Given the description of an element on the screen output the (x, y) to click on. 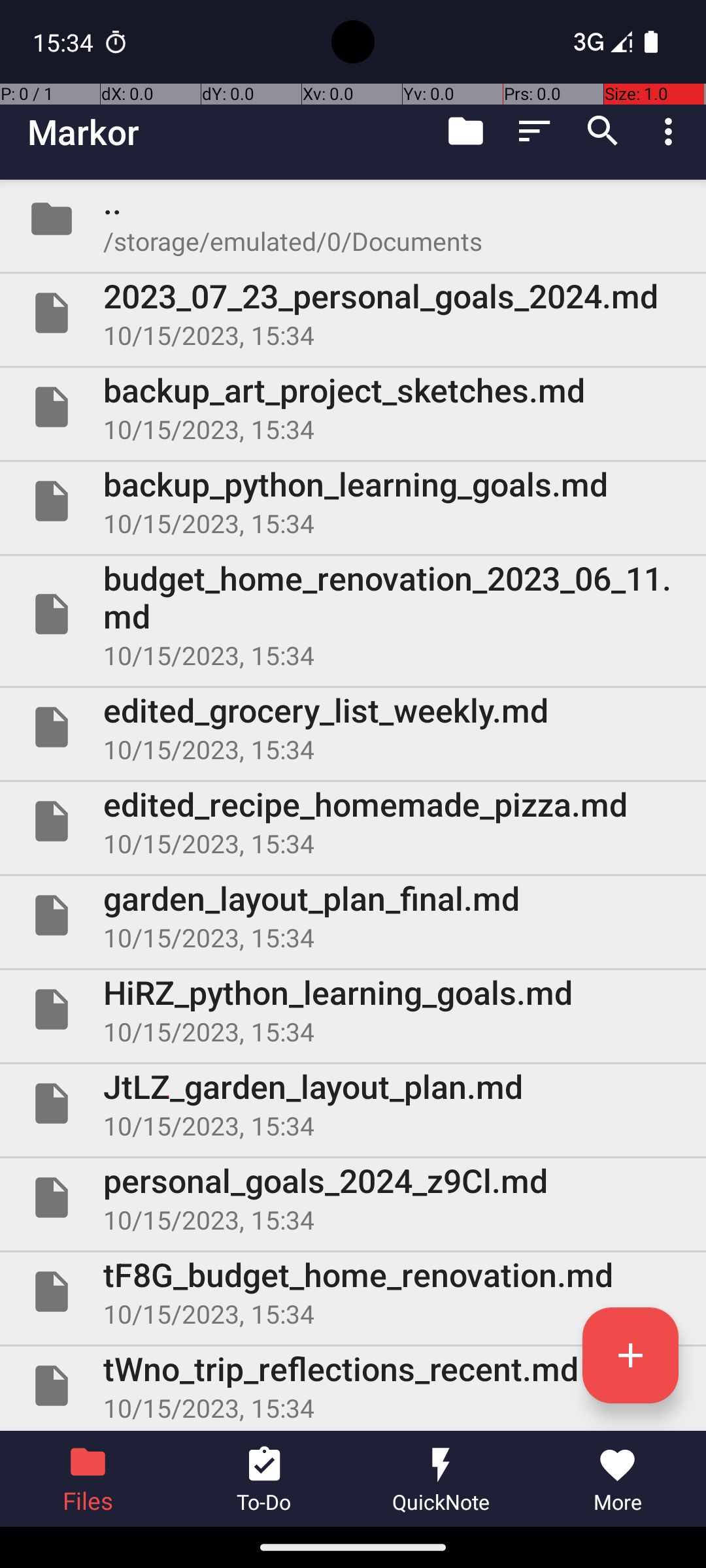
File 2023_07_23_personal_goals_2024.md  Element type: android.widget.LinearLayout (353, 312)
File backup_art_project_sketches.md  Element type: android.widget.LinearLayout (353, 406)
File backup_python_learning_goals.md  Element type: android.widget.LinearLayout (353, 500)
File budget_home_renovation_2023_06_11.md  Element type: android.widget.LinearLayout (353, 613)
File edited_grocery_list_weekly.md  Element type: android.widget.LinearLayout (353, 726)
File edited_recipe_homemade_pizza.md  Element type: android.widget.LinearLayout (353, 821)
File garden_layout_plan_final.md  Element type: android.widget.LinearLayout (353, 915)
File HiRZ_python_learning_goals.md  Element type: android.widget.LinearLayout (353, 1009)
File JtLZ_garden_layout_plan.md  Element type: android.widget.LinearLayout (353, 1103)
File personal_goals_2024_z9Cl.md  Element type: android.widget.LinearLayout (353, 1197)
File tF8G_budget_home_renovation.md  Element type: android.widget.LinearLayout (353, 1291)
File tWno_trip_reflections_recent.md  Element type: android.widget.LinearLayout (353, 1385)
